Given the description of an element on the screen output the (x, y) to click on. 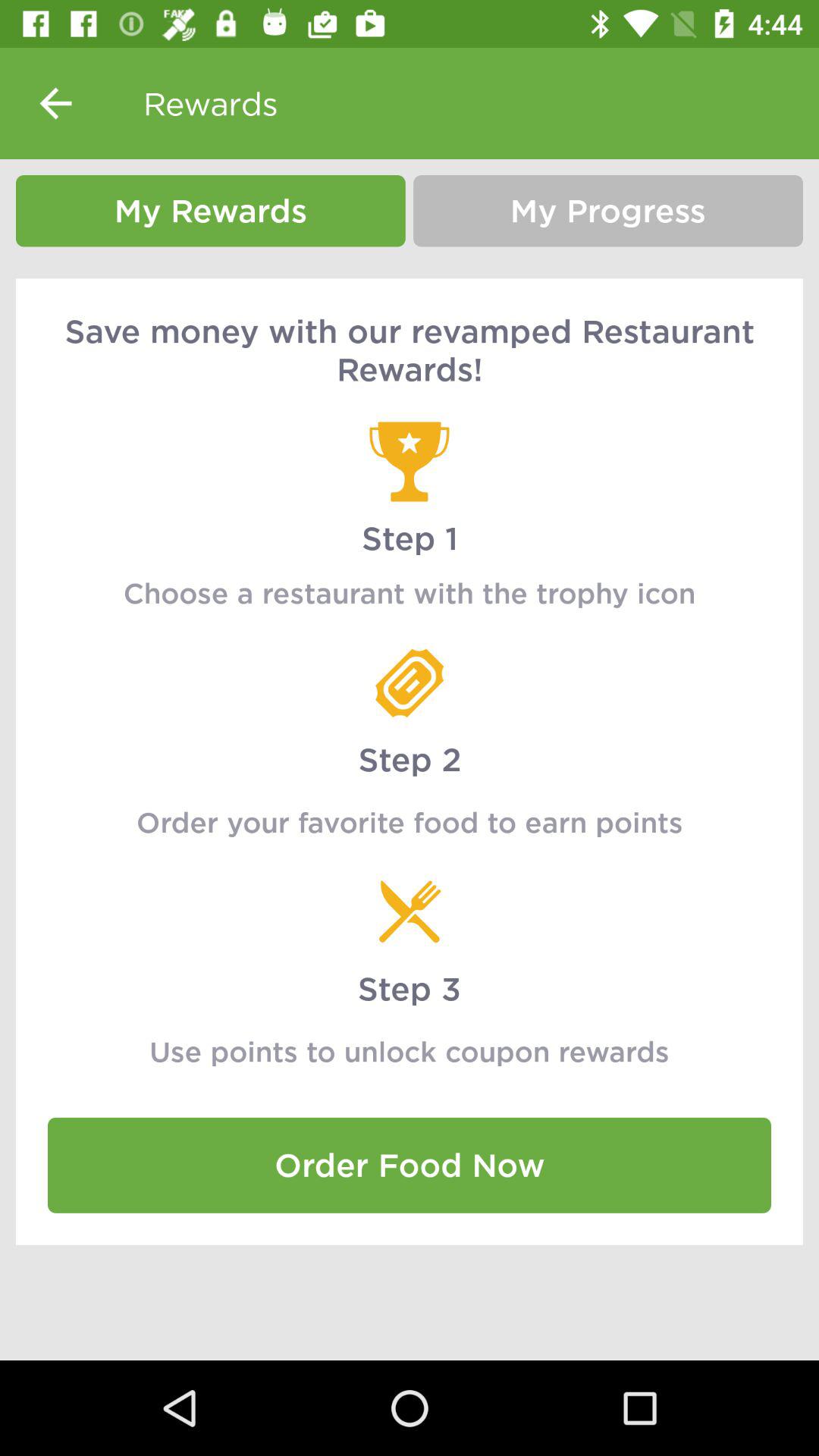
launch the item next to the rewards item (55, 103)
